Given the description of an element on the screen output the (x, y) to click on. 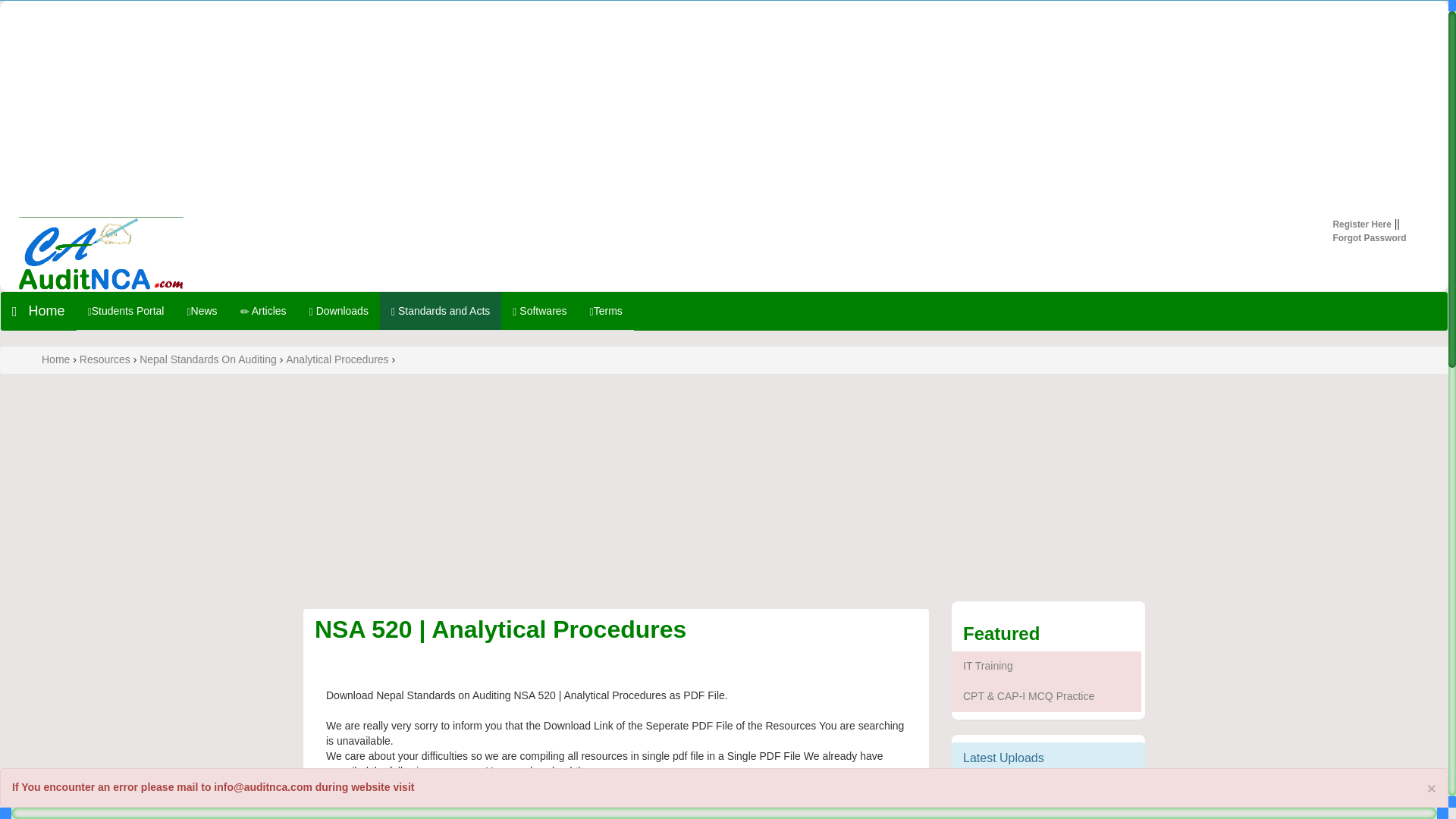
Nepal Standards On Auditing (209, 358)
News (201, 310)
Standards and Acts (440, 310)
Indian Auditing Standards (615, 814)
IT Training (1048, 666)
Resources (106, 358)
Forgot Password (1369, 236)
Terms (605, 310)
Students Portal (126, 310)
Softwares (539, 310)
Suggested Answer June 2016 (1048, 802)
Articles (263, 310)
  Home (39, 310)
Register Here (1362, 223)
